Given the description of an element on the screen output the (x, y) to click on. 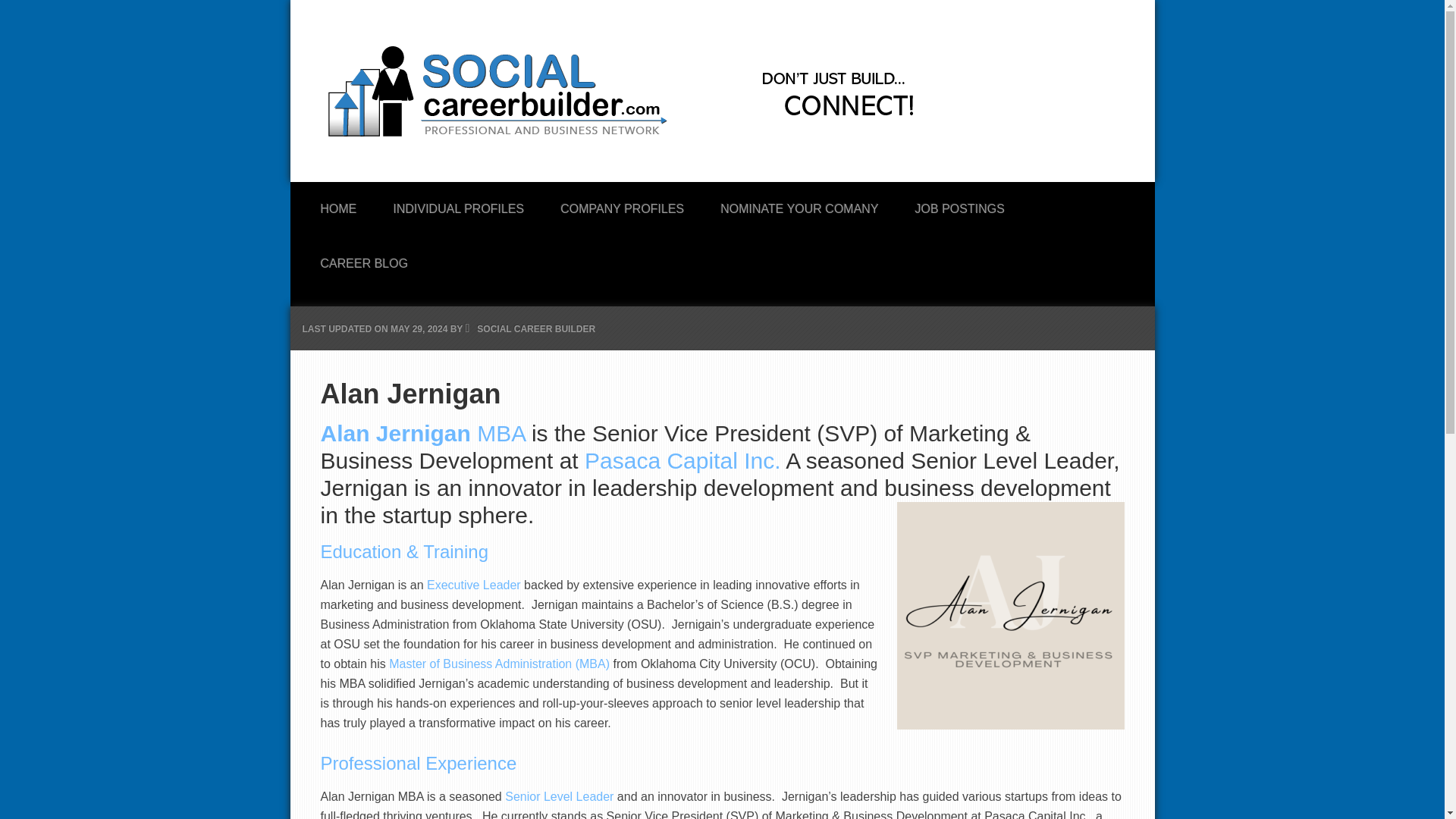
Pasaca Capital Inc. (682, 460)
Senior Level Leader (558, 796)
INDIVIDUAL PROFILES (457, 204)
HOME (337, 204)
NOMINATE YOUR COMANY (798, 204)
Professional Experience (418, 762)
COMPANY PROFILES (621, 204)
Alan Jernigan MBA (422, 432)
SOCIAL CAREER BUILDER (536, 328)
Executive Leader (473, 584)
CAREER BLOG (363, 259)
Alan Jernigan (1010, 615)
JOB POSTINGS (959, 204)
